Given the description of an element on the screen output the (x, y) to click on. 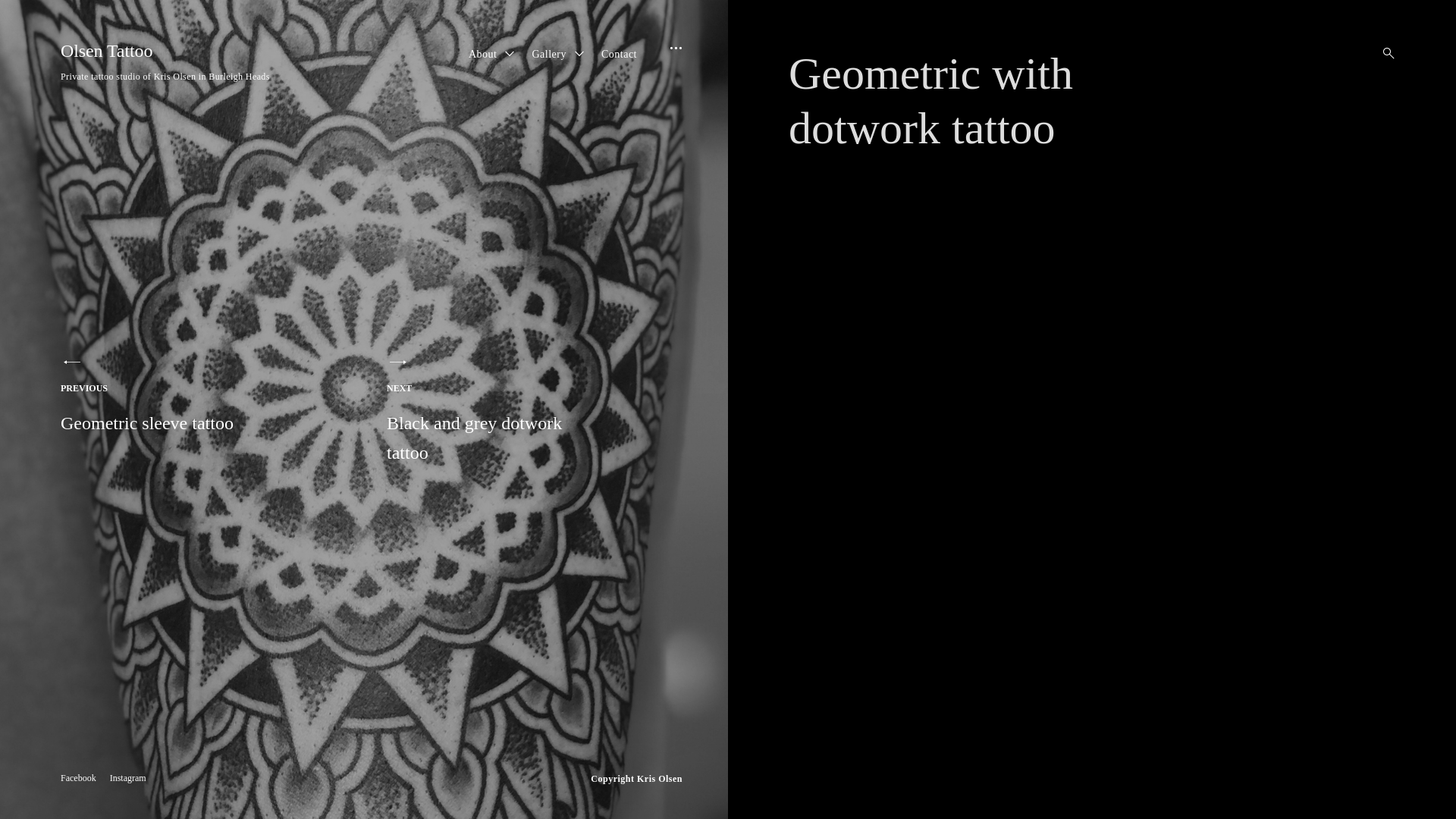
Olsen Tattoo Element type: text (106, 50)
PREVIOUS
Geometric sleeve tattoo Element type: text (158, 394)
Gallery Element type: text (548, 55)
Contact Element type: text (619, 55)
Search Element type: text (15, 15)
Instagram Element type: text (127, 777)
open sidebar Element type: text (670, 61)
Facebook Element type: text (78, 777)
About Element type: text (482, 55)
NEXT
Black and grey dotwork tattoo Element type: text (484, 409)
open search form Element type: text (1383, 52)
